Given the description of an element on the screen output the (x, y) to click on. 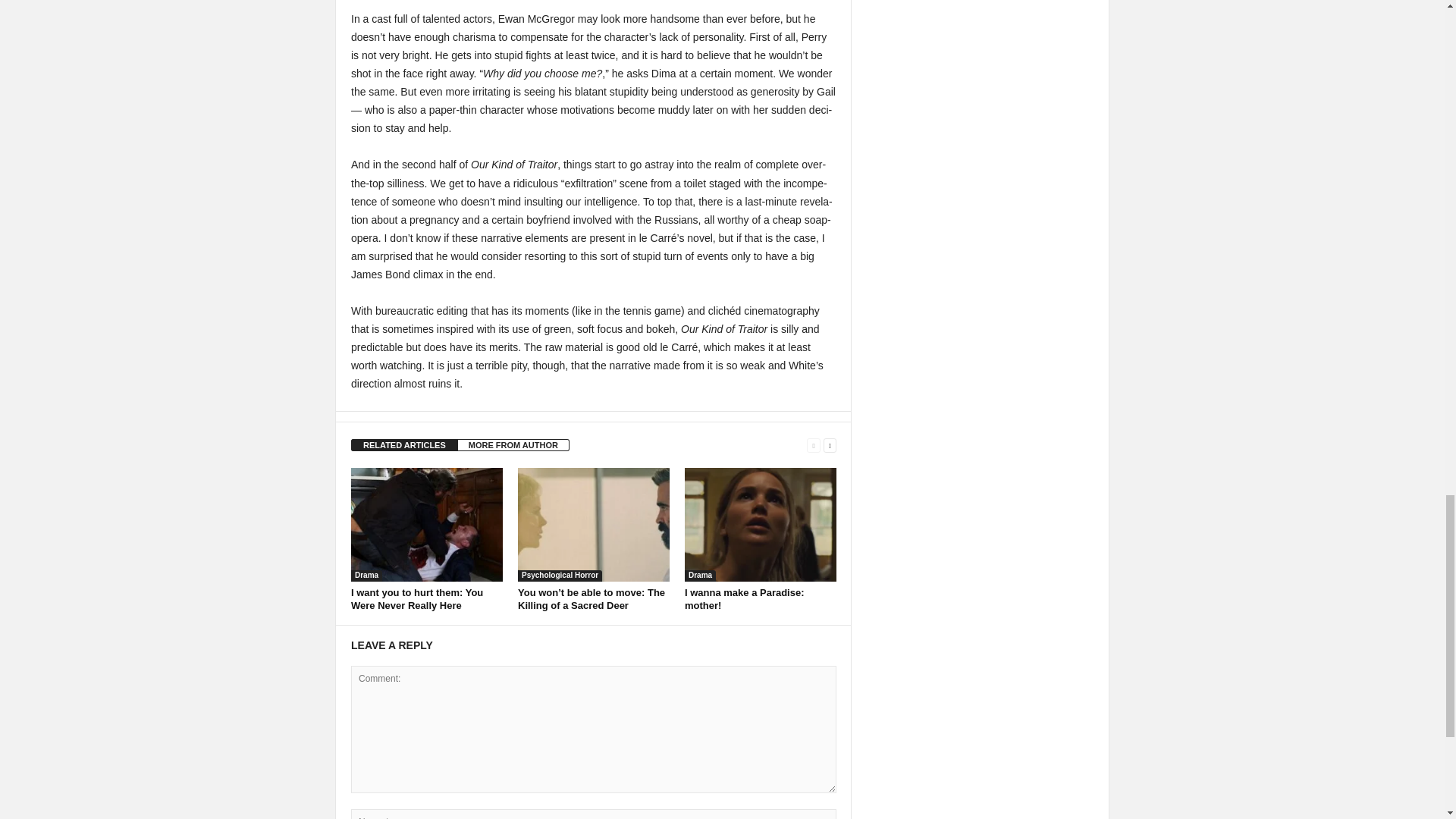
Drama (365, 575)
Psychological Horror (560, 575)
I want you to hurt them: You Were Never Really Here (416, 598)
RELATED ARTICLES (404, 444)
MORE FROM AUTHOR (513, 444)
